Given the description of an element on the screen output the (x, y) to click on. 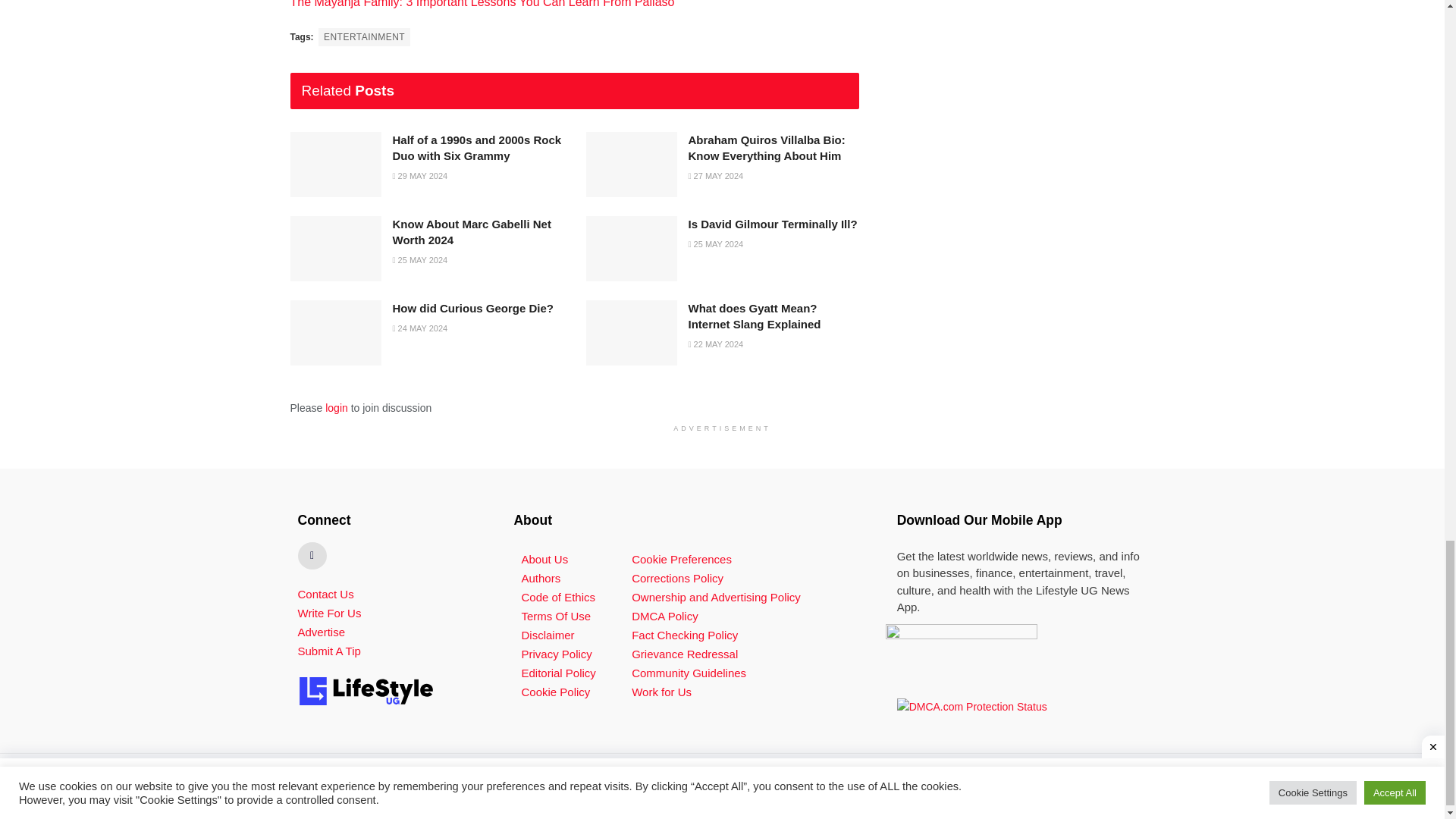
27 MAY 2024 (716, 175)
29 MAY 2024 (420, 175)
Abraham Quiros Villalba Bio: Know Everything About Him (766, 147)
DMCA.com Protection Status (971, 705)
Half of a 1990s and 2000s Rock Duo with Six Grammy (477, 147)
ENTERTAINMENT (364, 36)
